Given the description of an element on the screen output the (x, y) to click on. 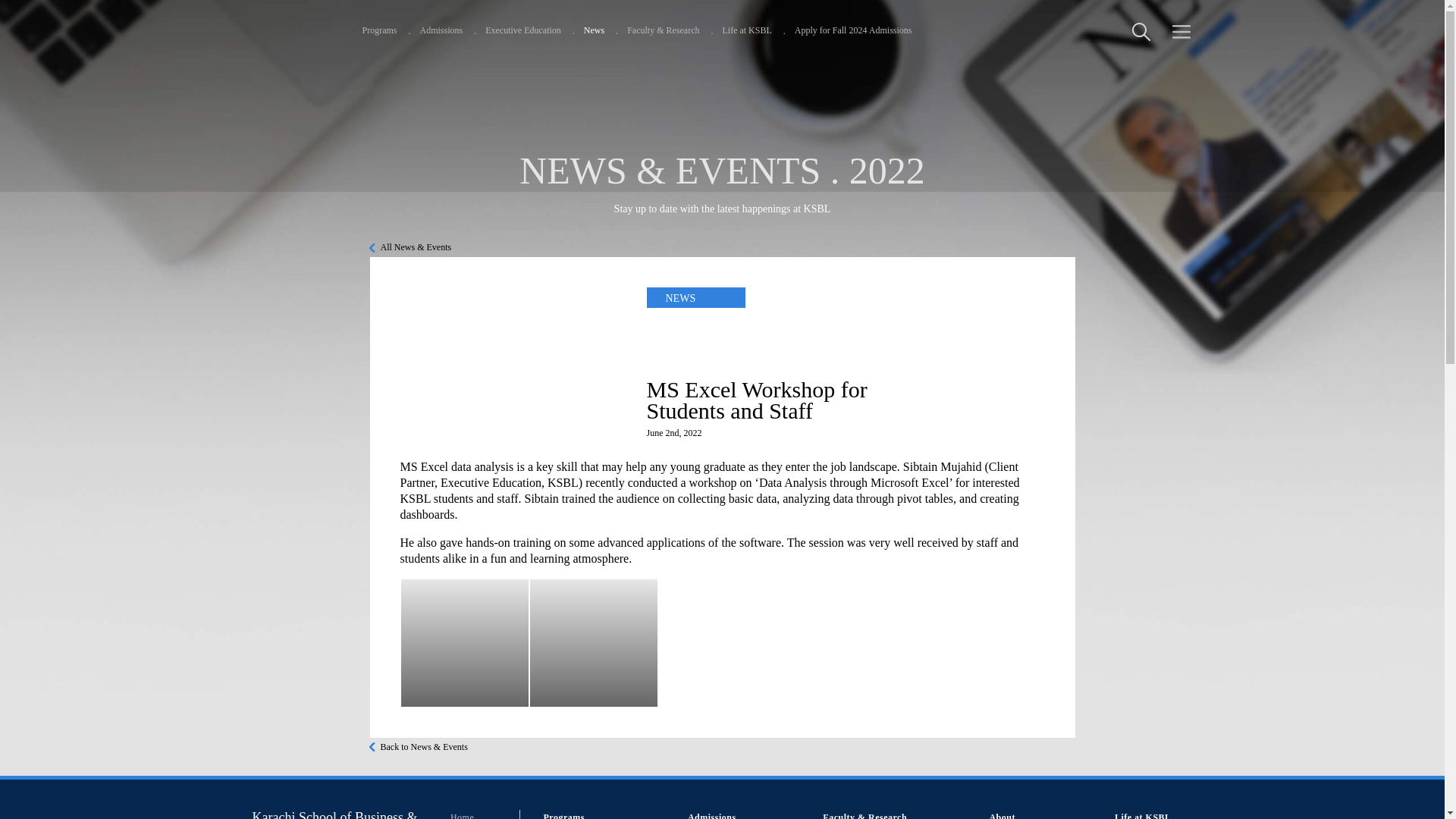
Executive Education (522, 30)
Admissions (441, 30)
Life at KSBL (746, 30)
Programs (379, 30)
All News (410, 247)
Apply for Fall 2024 Admissions (853, 30)
Back to News (418, 747)
News (593, 30)
